Given the description of an element on the screen output the (x, y) to click on. 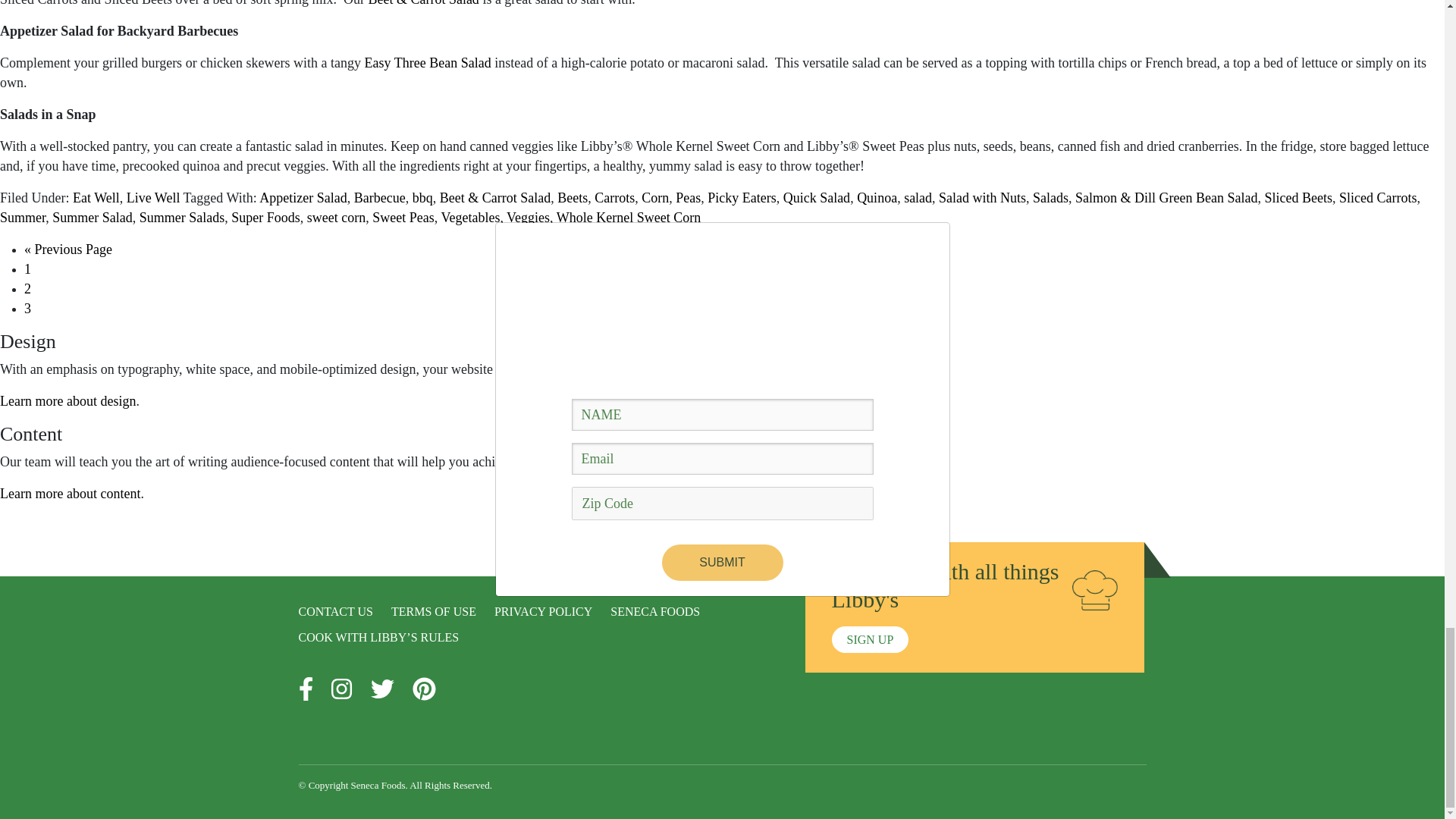
Social Link (382, 690)
Social Link (305, 690)
Social Link (423, 690)
Social Link (341, 690)
